Given the description of an element on the screen output the (x, y) to click on. 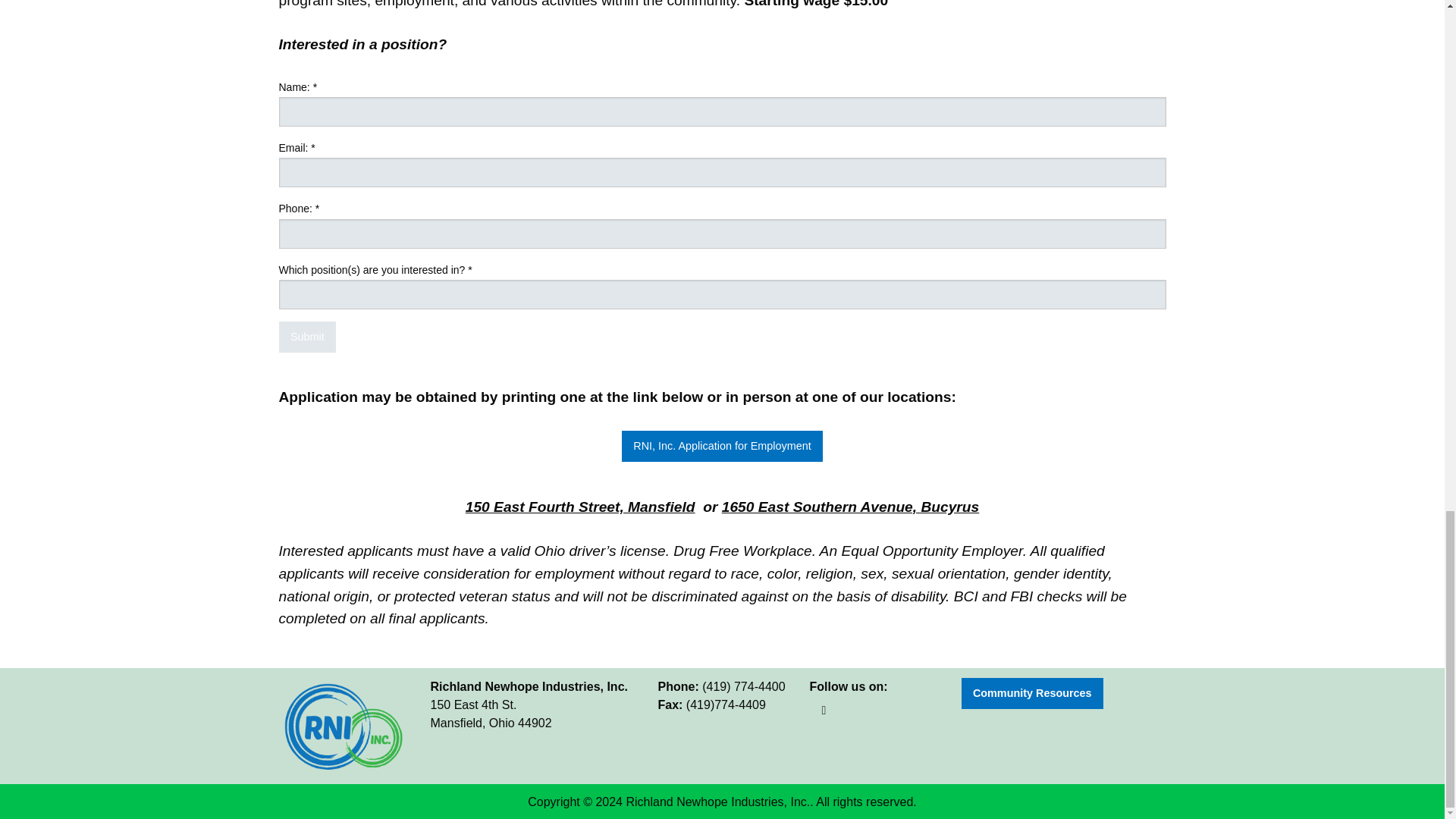
Submit (307, 336)
Community Resources (1031, 693)
RNI, Inc. Application for Employment (721, 445)
Submit (307, 336)
